Given the description of an element on the screen output the (x, y) to click on. 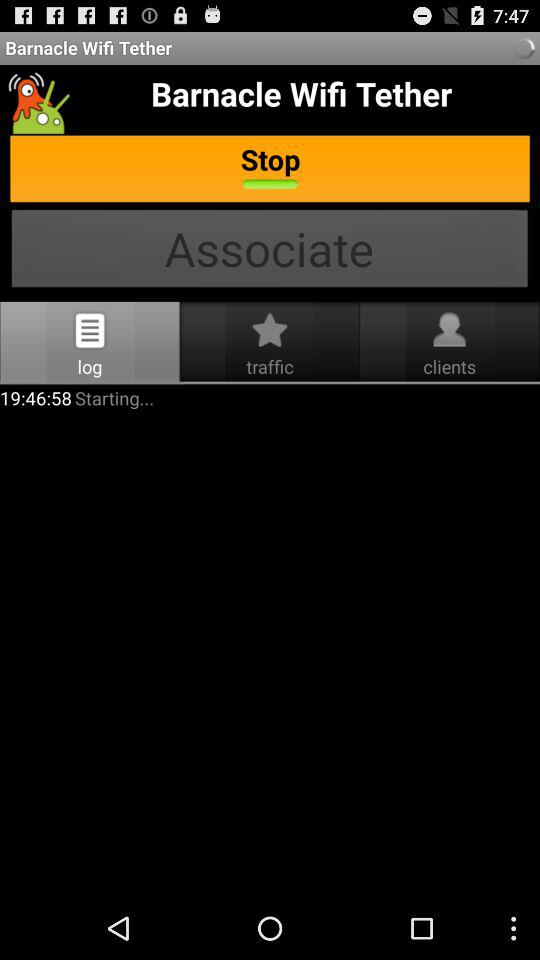
select the stop icon (269, 170)
